Given the description of an element on the screen output the (x, y) to click on. 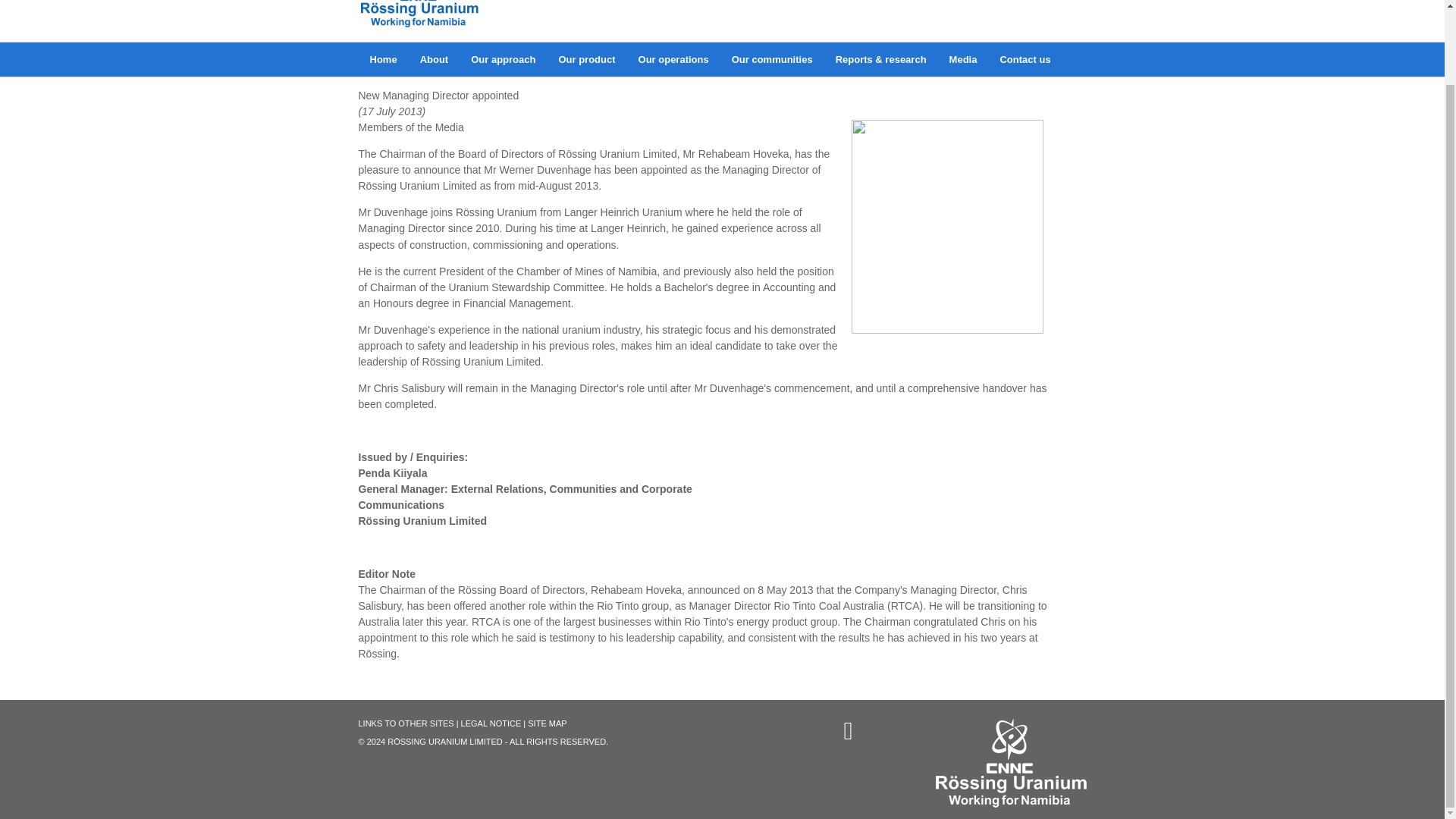
What we produce (586, 59)
Our product (586, 59)
Who we are (434, 59)
Home (382, 59)
Our communities (772, 59)
About (434, 59)
Our operations (673, 59)
Our approach (503, 59)
Home (382, 59)
Our approach (503, 59)
Our neighbouring communities (772, 59)
Our operations (673, 59)
Media (962, 59)
Reports and research (880, 59)
